Given the description of an element on the screen output the (x, y) to click on. 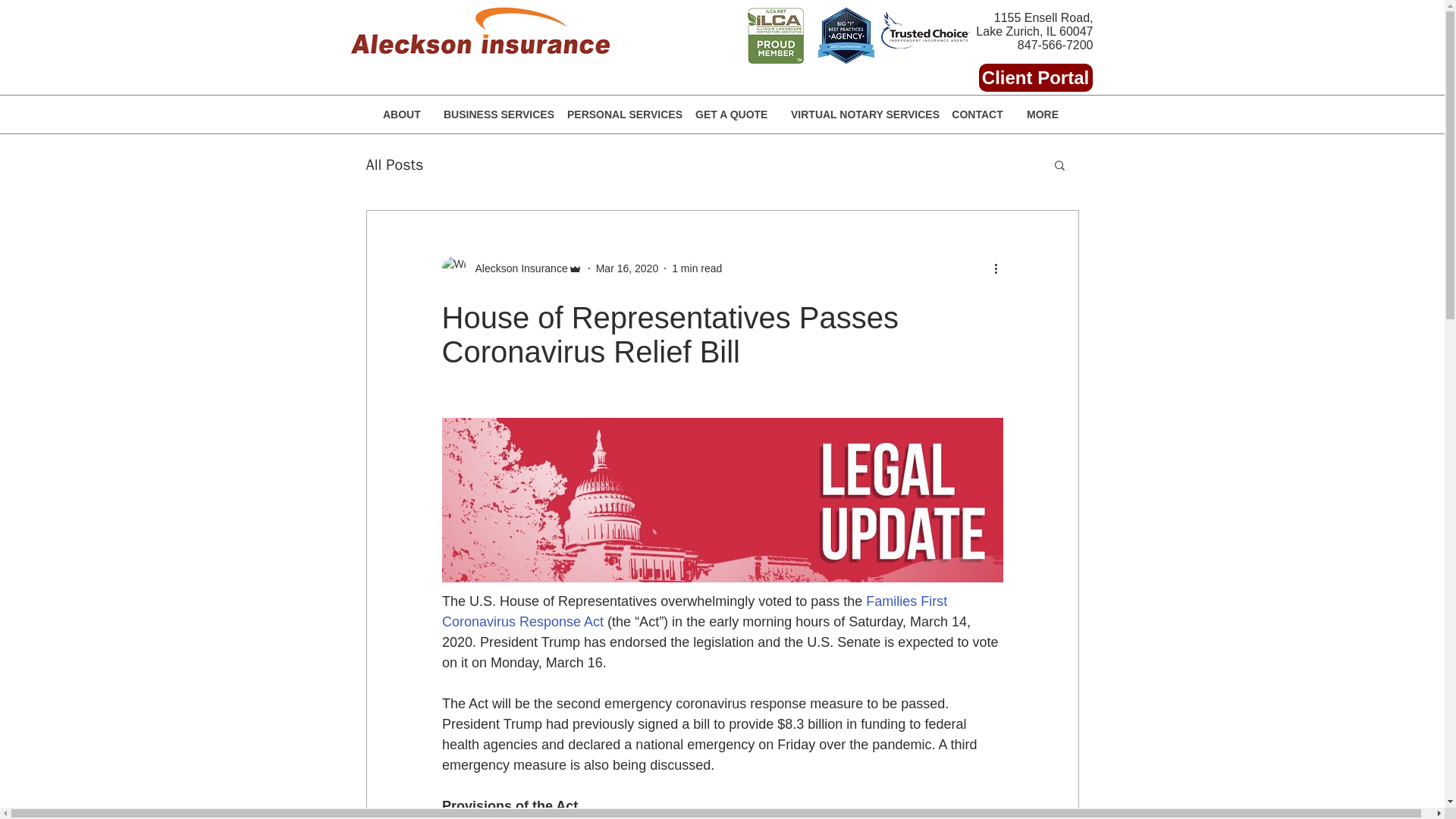
VIRTUAL NOTARY SERVICES (858, 114)
Client Portal (1035, 77)
Aleckson Insurance (510, 268)
All Posts (394, 164)
CONTACT (976, 114)
Mar 16, 2020 (627, 268)
1 min read (696, 268)
Families First Coronavirus Response Act (695, 611)
Aleckson Insurance (516, 268)
